Given the description of an element on the screen output the (x, y) to click on. 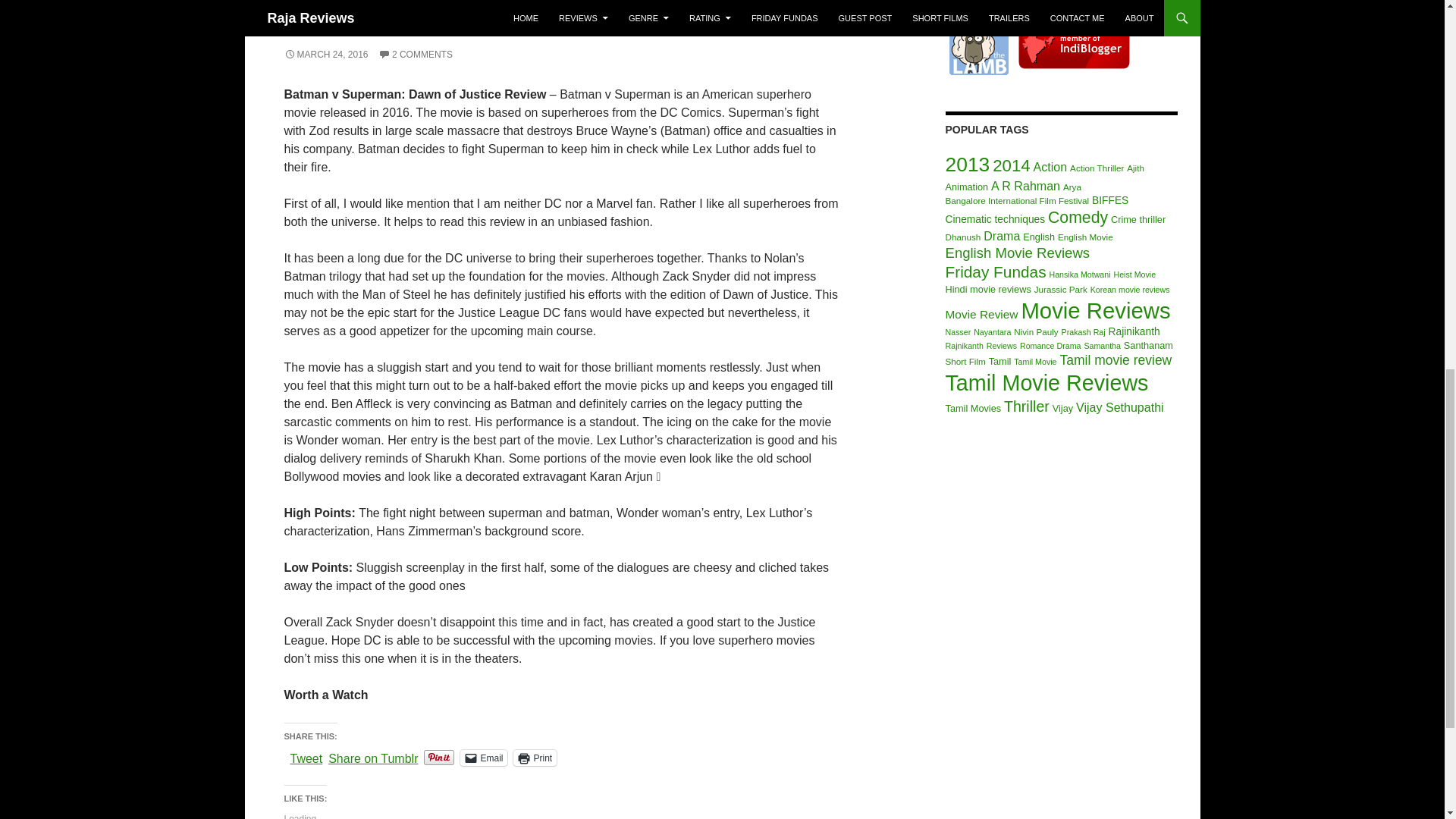
Share on Tumblr (373, 756)
Click to print (534, 757)
Click to email a link to a friend (483, 757)
IndiBlogger - The Largest Indian Blogger Community (1073, 44)
